Given the description of an element on the screen output the (x, y) to click on. 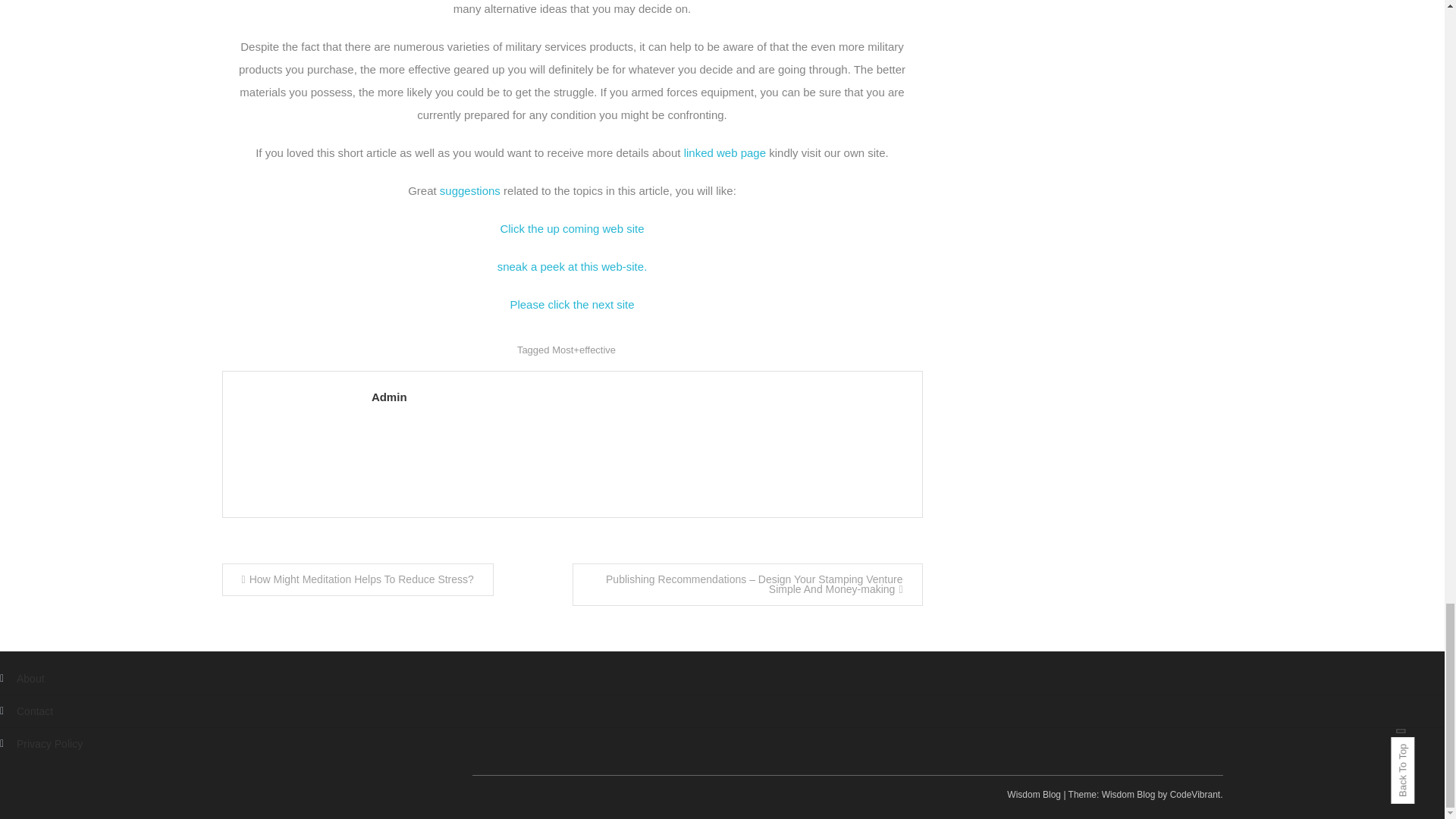
linked web page (724, 152)
sneak a peek at this web-site. (572, 266)
Admin (639, 396)
Please click the next site (571, 304)
suggestions (469, 190)
How Might Meditation Helps To Reduce Stress? (357, 579)
Click the up coming web site (571, 228)
